Given the description of an element on the screen output the (x, y) to click on. 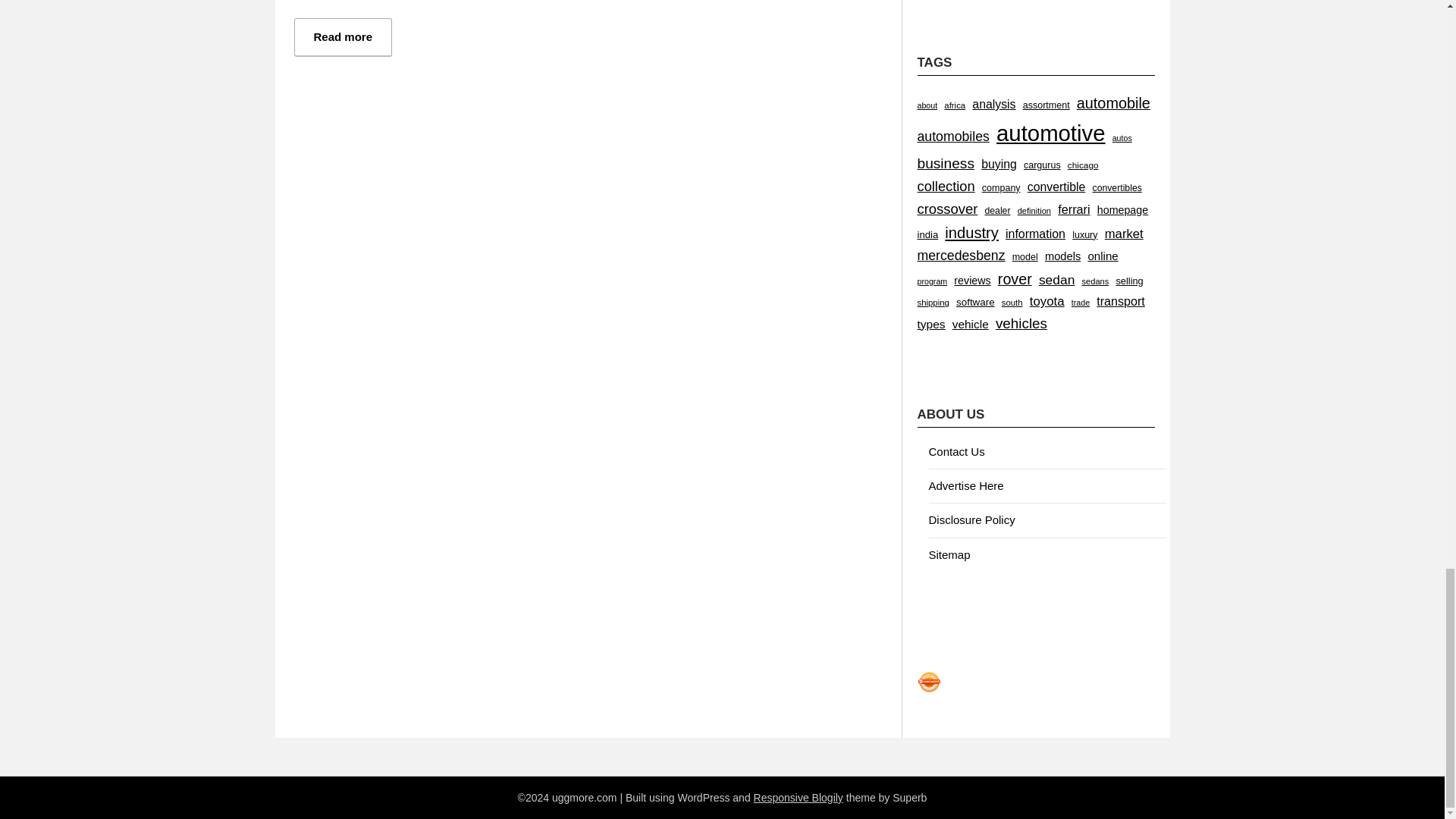
Read more (343, 37)
Seedbacklink (928, 681)
